Given the description of an element on the screen output the (x, y) to click on. 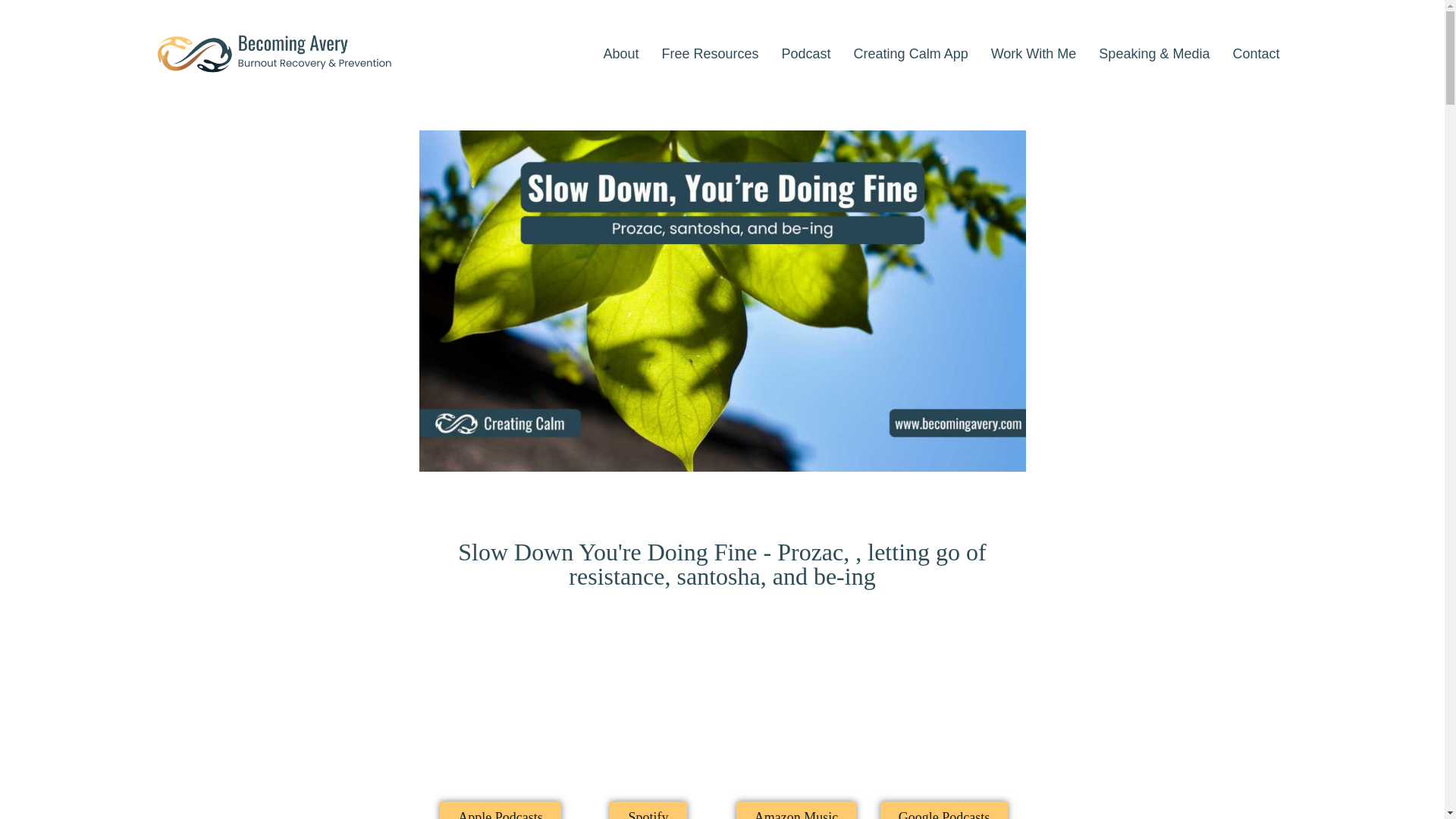
Podcast (806, 53)
Free Resources (709, 53)
Work With Me (1033, 53)
Amazon Music (796, 810)
Contact (1255, 53)
About (620, 53)
Google Podcasts (944, 810)
Spotify (647, 810)
Creating Calm App (911, 53)
Apple Podcasts (499, 810)
